Given the description of an element on the screen output the (x, y) to click on. 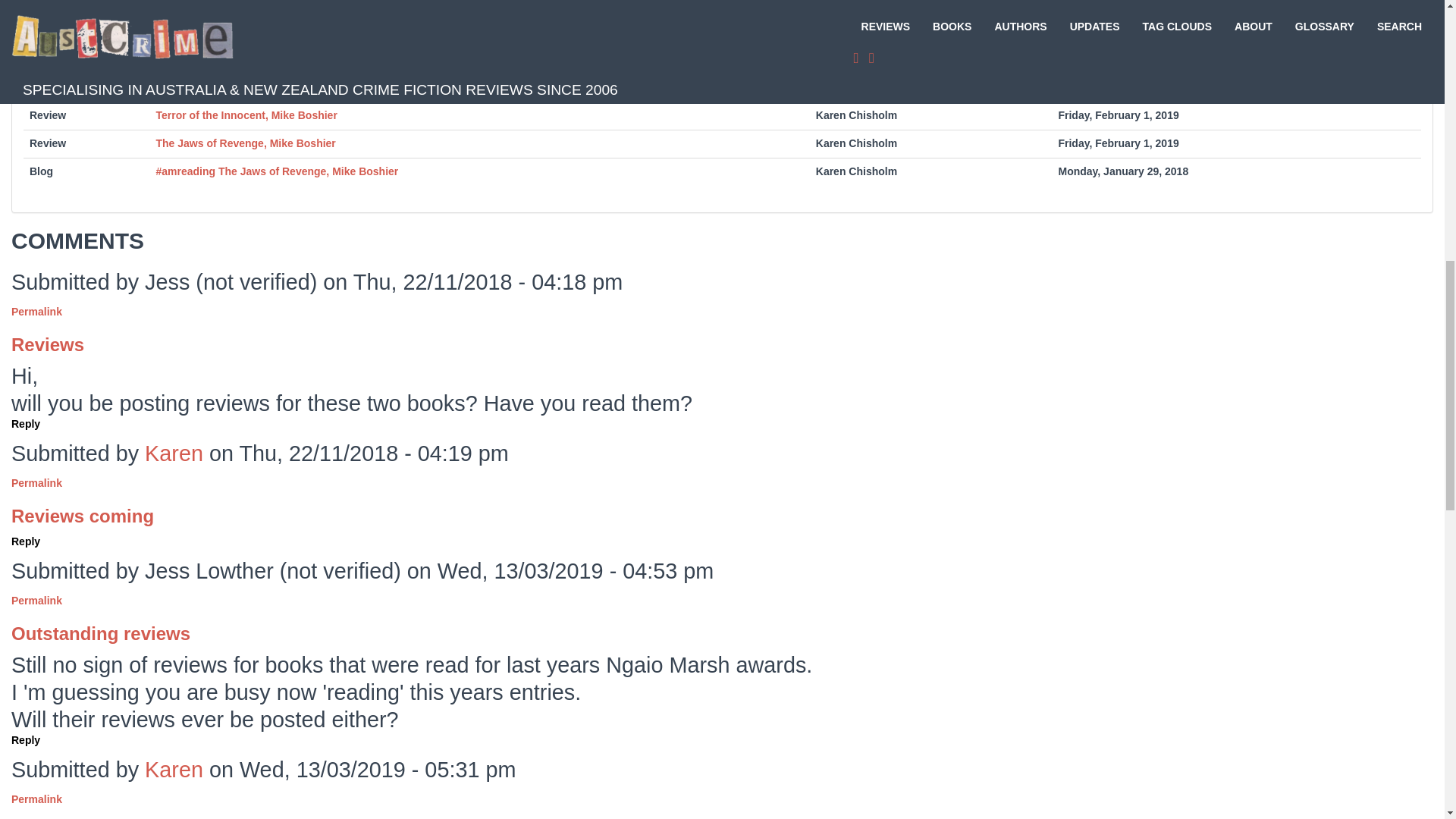
Terror of the Innocent, Mike Boshier (246, 114)
Karen (173, 453)
Reviews (47, 344)
View user profile. (173, 453)
Permalink (36, 600)
Reply (25, 423)
Reply (25, 541)
Reviews coming (82, 516)
The Jaws of Revenge (432, 5)
Permalink (36, 311)
Permalink (36, 482)
View user profile. (173, 769)
POSTS ABOUT THIS AUTHOR (721, 72)
Outstanding reviews (100, 633)
The Jaws of Revenge, Mike Boshier (245, 143)
